Given the description of an element on the screen output the (x, y) to click on. 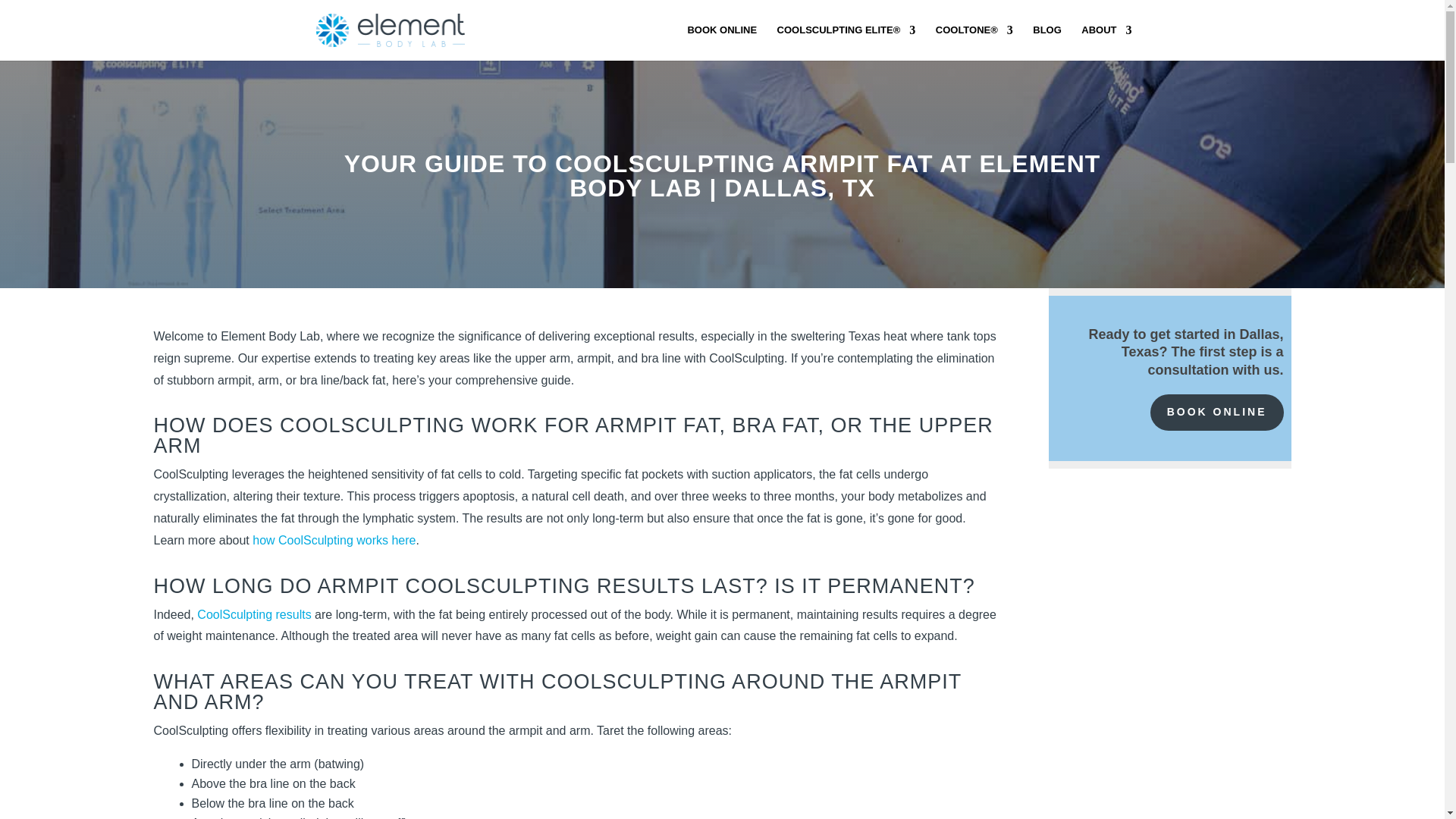
ABOUT (1106, 42)
Learn How CoolSculpting Works (846, 42)
BOOK ONLINE (722, 42)
